Given the description of an element on the screen output the (x, y) to click on. 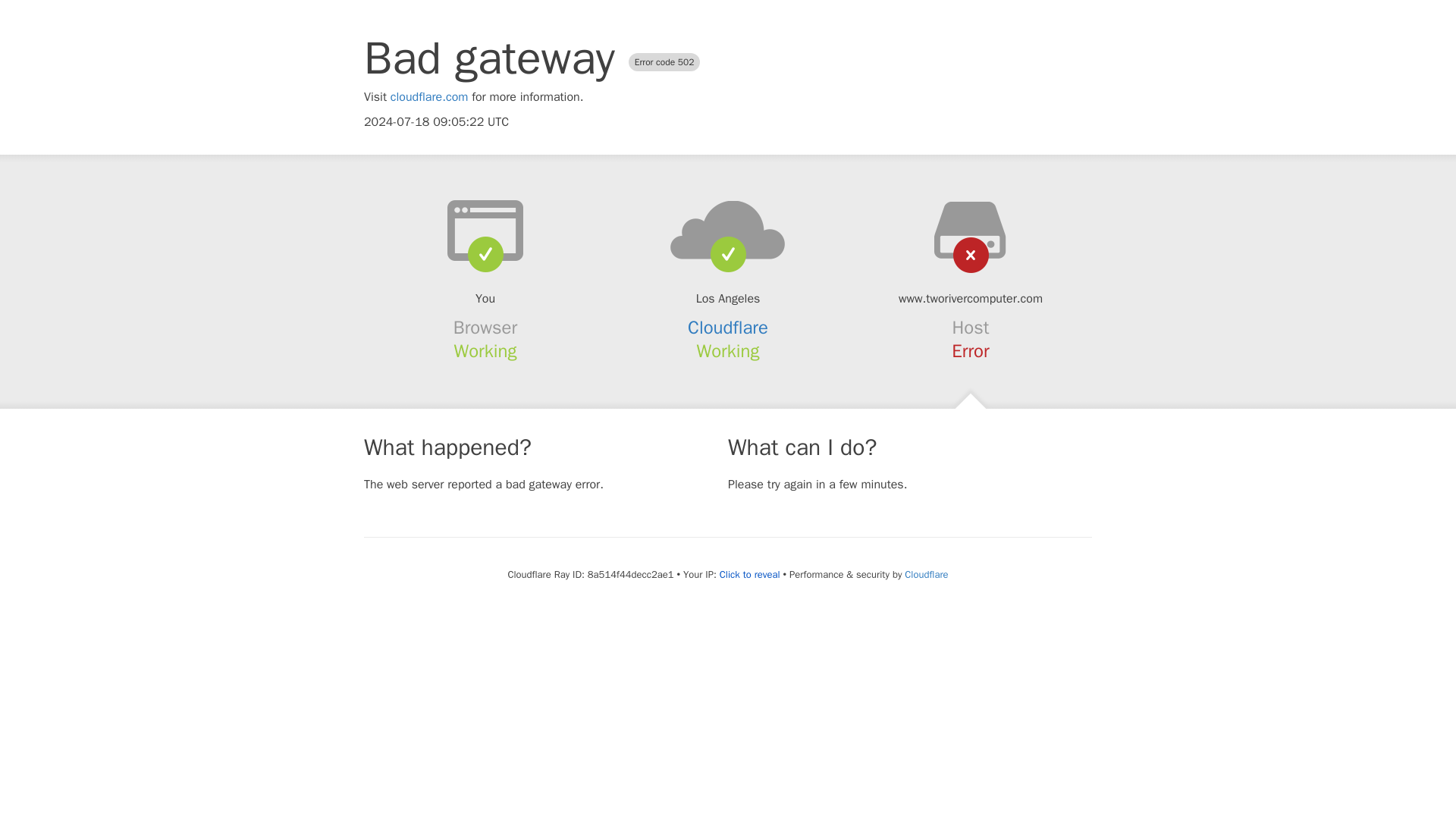
cloudflare.com (429, 96)
Cloudflare (925, 574)
Cloudflare (727, 327)
Click to reveal (749, 574)
